Given the description of an element on the screen output the (x, y) to click on. 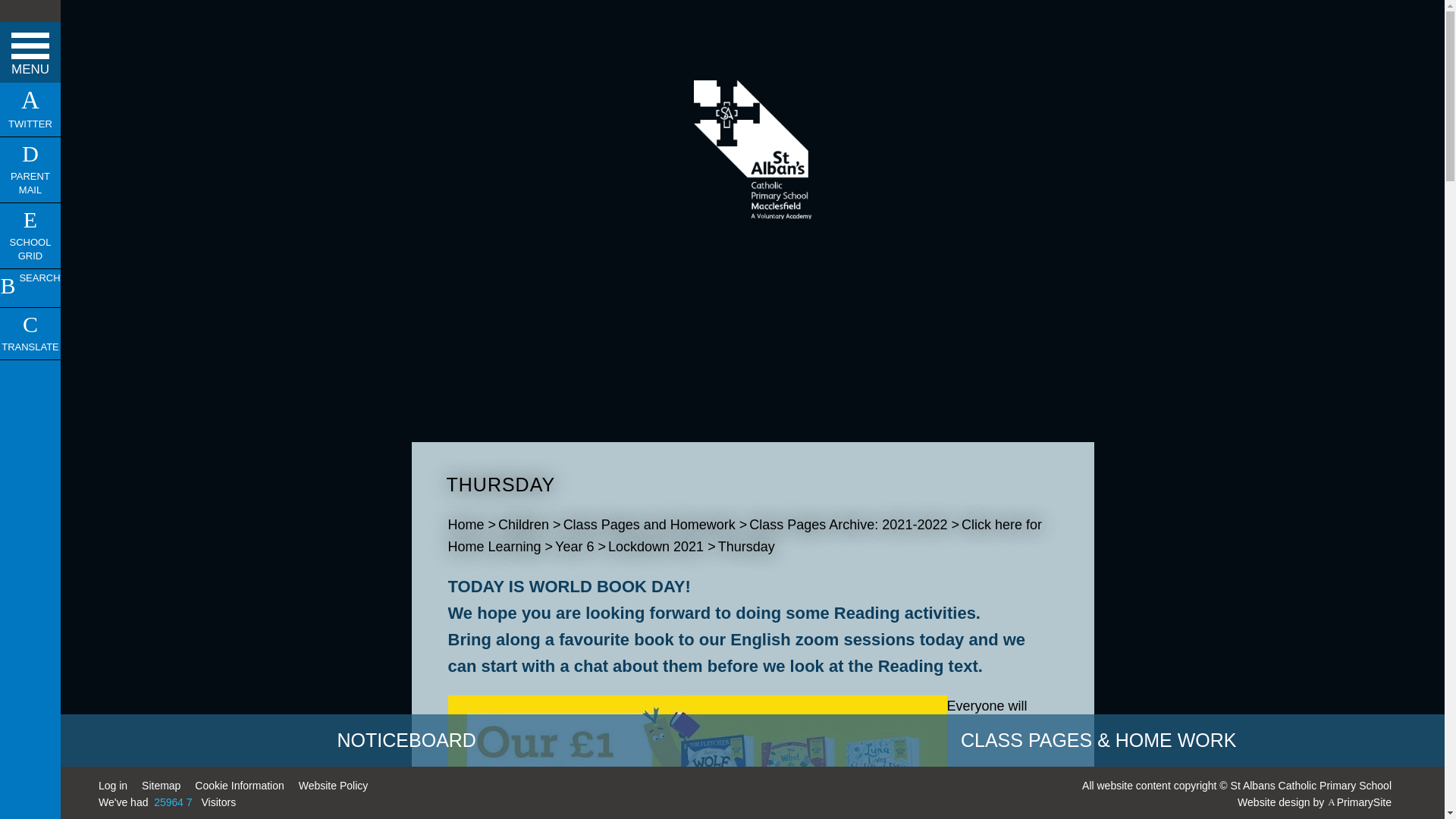
PARENTS (30, 172)
ABOUT US (30, 86)
KEY INFORMATION (30, 129)
HOME (30, 43)
